Given the description of an element on the screen output the (x, y) to click on. 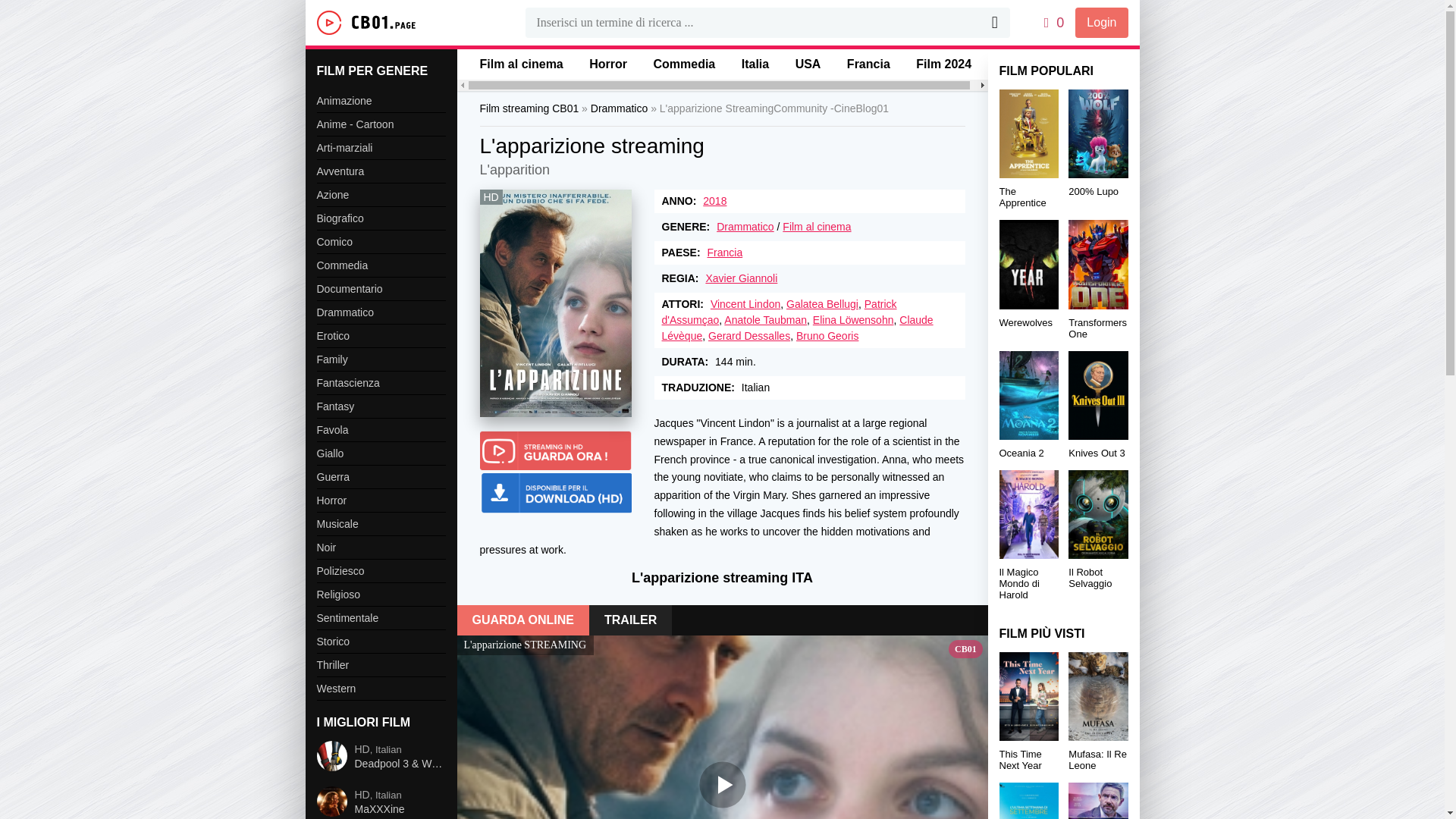
Film al cinema (520, 63)
Drammatico (619, 108)
Galatea Bellugi (822, 304)
Film streaming CB01 (528, 108)
Gerard Dessalles (748, 336)
Anatole Taubman (764, 319)
Animazione (381, 101)
Xavier Giannoli (740, 277)
Vincent Lindon (745, 304)
Drammatico (744, 226)
Francia (868, 63)
Horror (608, 63)
Film 2024 (943, 63)
Commedia (683, 63)
USA (807, 63)
